Given the description of an element on the screen output the (x, y) to click on. 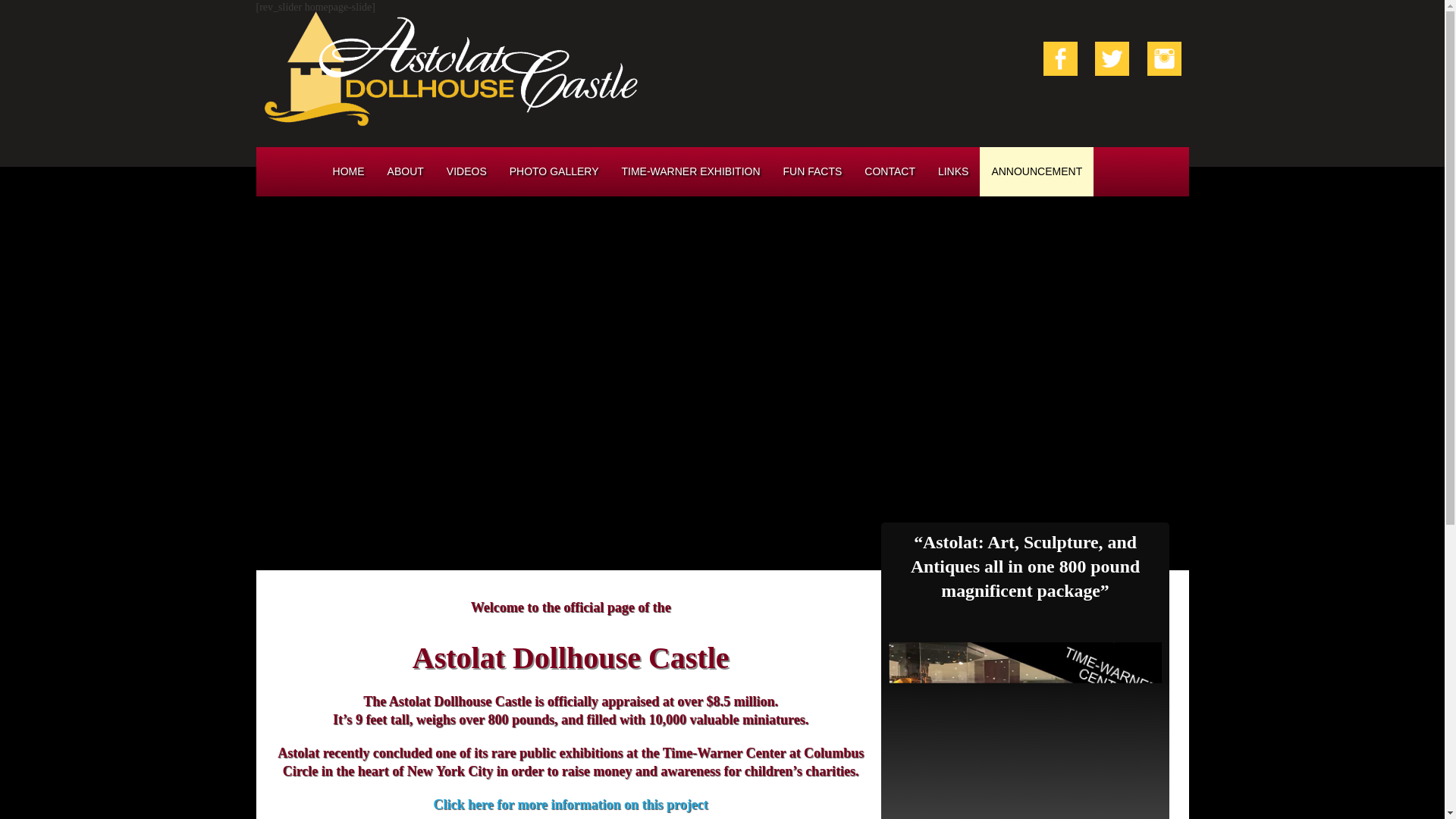
HOME (348, 171)
Click here for more information on this project (570, 804)
new york miniature dollhouse (952, 171)
new mexico castle dollhouse (553, 171)
new york dollhouse castle (1111, 58)
adh charity for children (1163, 57)
ny miniature dollhouse (452, 66)
astolat dollhouse (348, 171)
ny most valuable doll house in the world (812, 171)
ANNOUNCEMENT (1036, 171)
ABOUT (405, 171)
PHOTO GALLERY (553, 171)
LINKS (952, 171)
VIDEOS (466, 171)
FUN FACTS (812, 171)
